Given the description of an element on the screen output the (x, y) to click on. 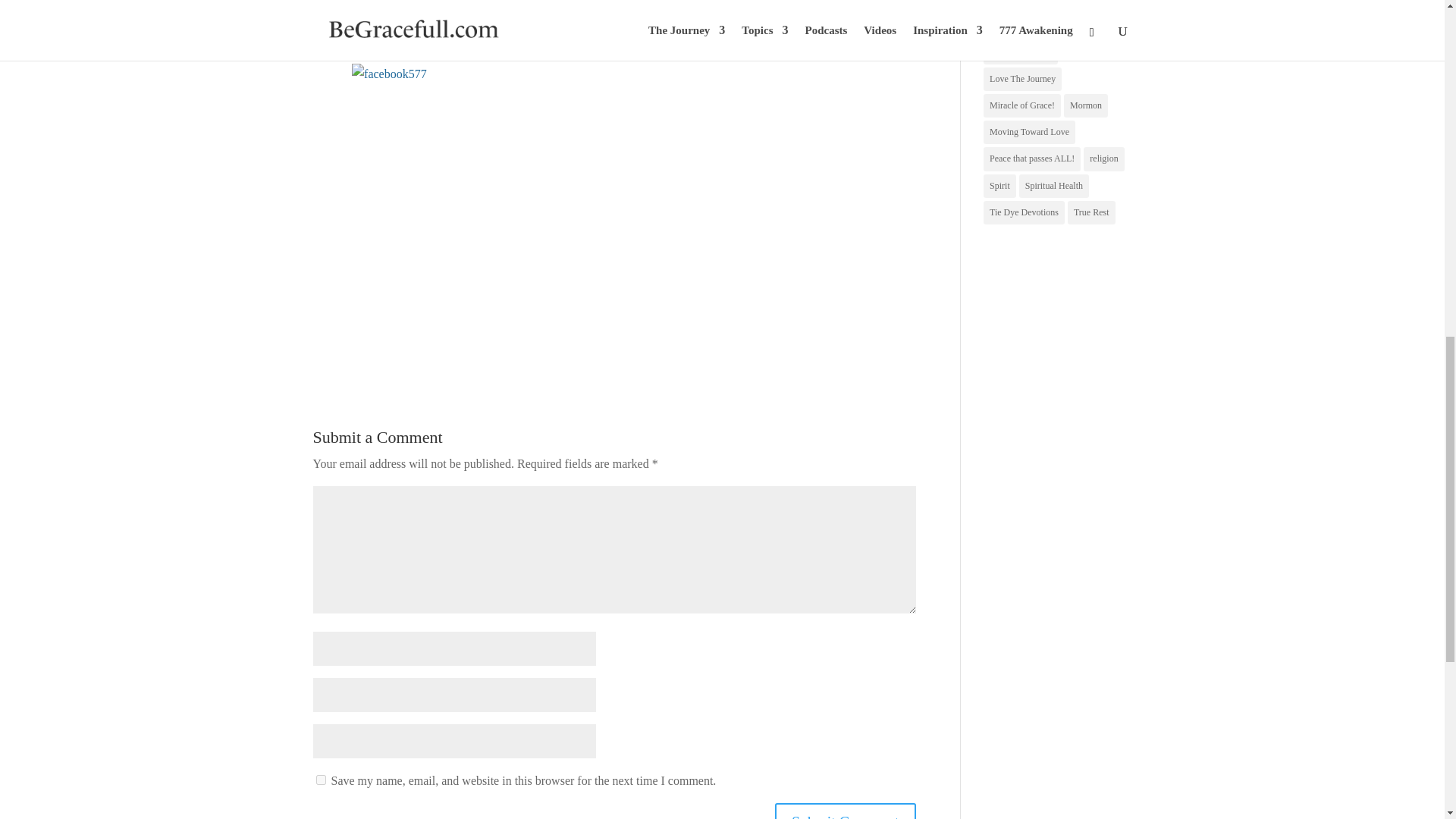
BeGraceFull.com (358, 7)
Submit Comment (844, 811)
yes (319, 779)
